Given the description of an element on the screen output the (x, y) to click on. 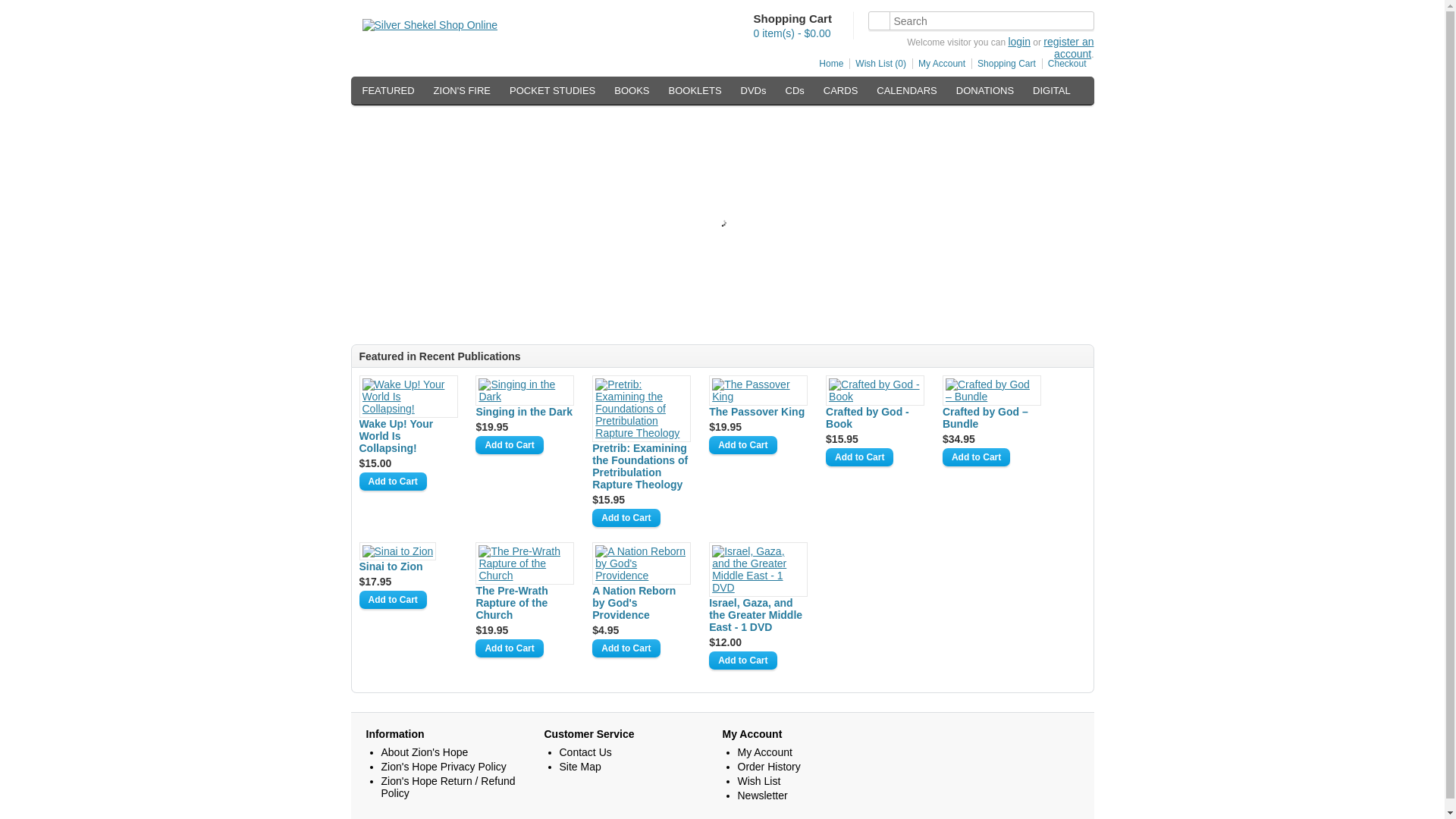
CDs (794, 90)
My Account (938, 63)
ZION'S FIRE (461, 90)
Add to Cart (392, 599)
DONATIONS (985, 90)
Add to Cart (976, 456)
Checkout (1064, 63)
BOOKS (631, 90)
BOOKLETS (695, 90)
POCKET STUDIES (552, 90)
